Given the description of an element on the screen output the (x, y) to click on. 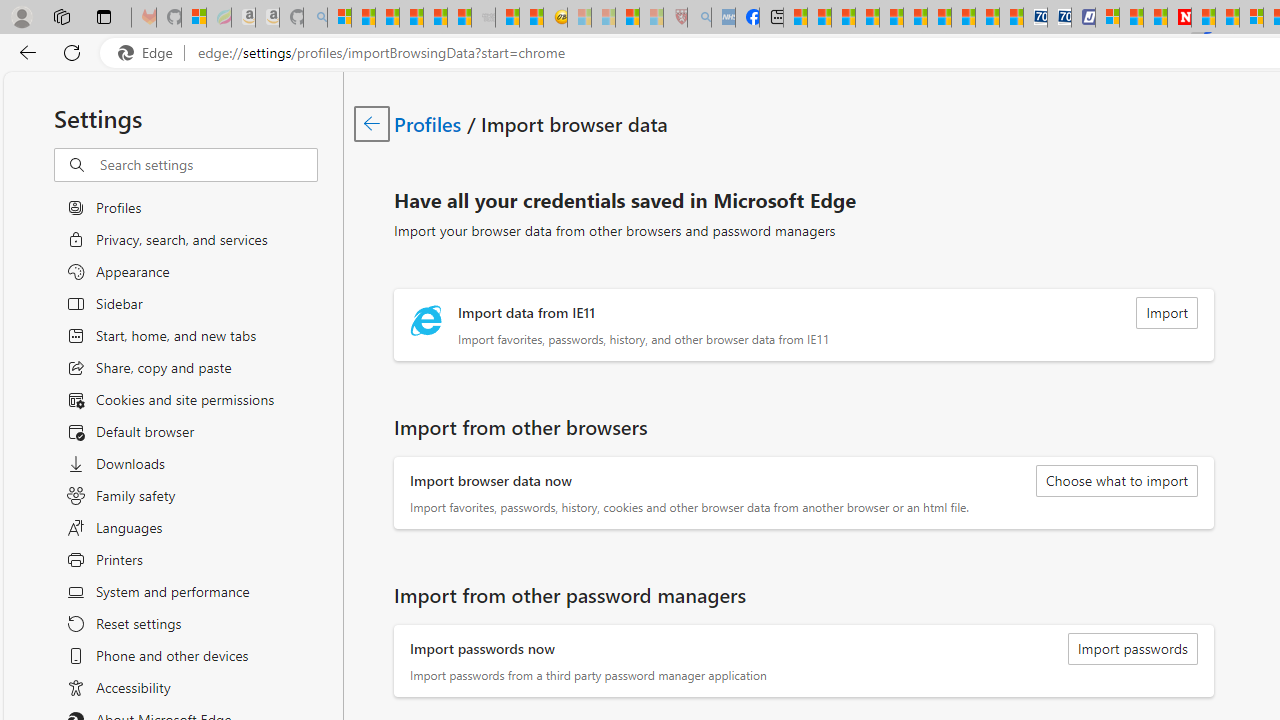
Search settings (207, 165)
